Given the description of an element on the screen output the (x, y) to click on. 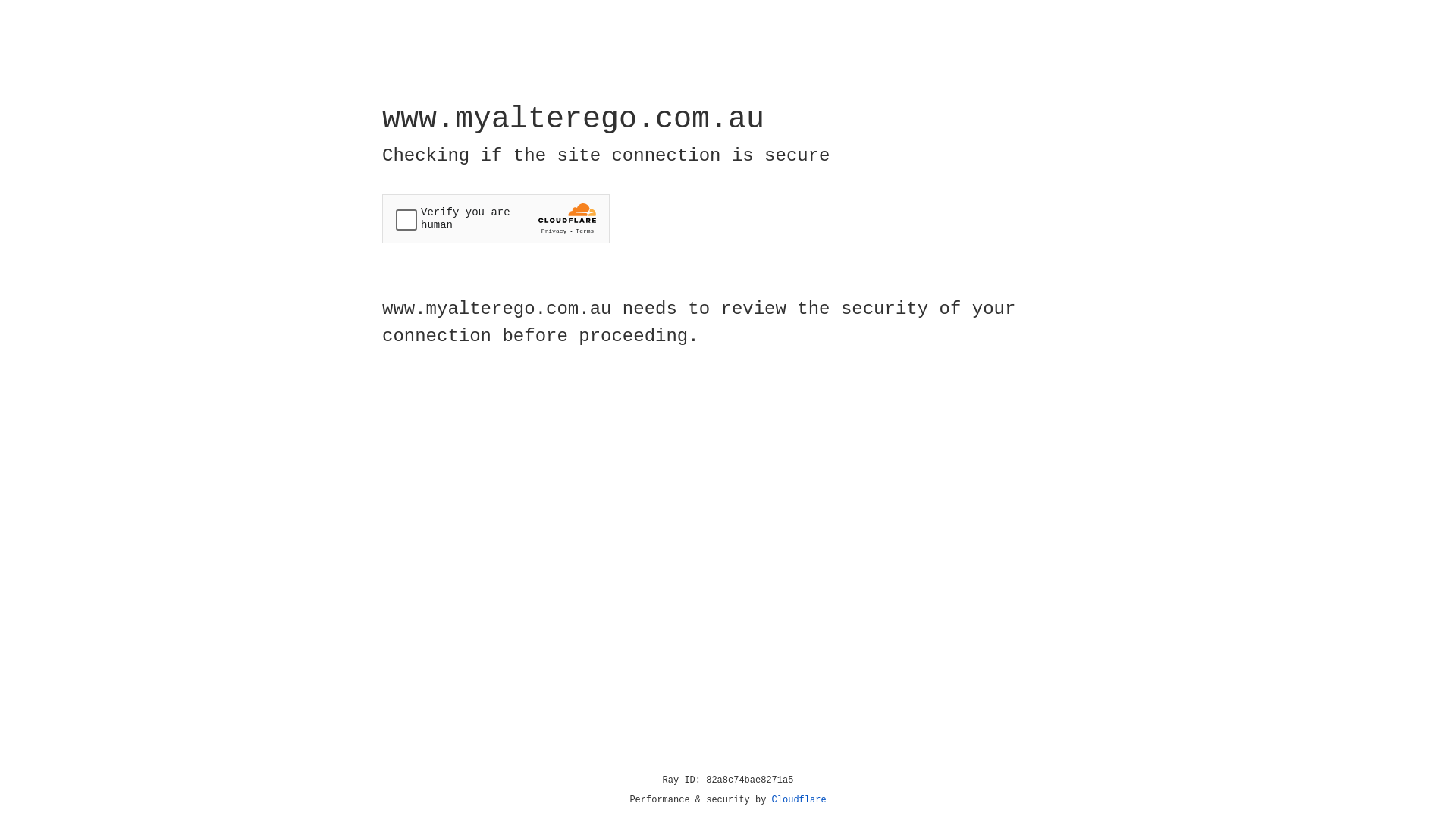
Widget containing a Cloudflare security challenge Element type: hover (495, 218)
Cloudflare Element type: text (798, 799)
